Given the description of an element on the screen output the (x, y) to click on. 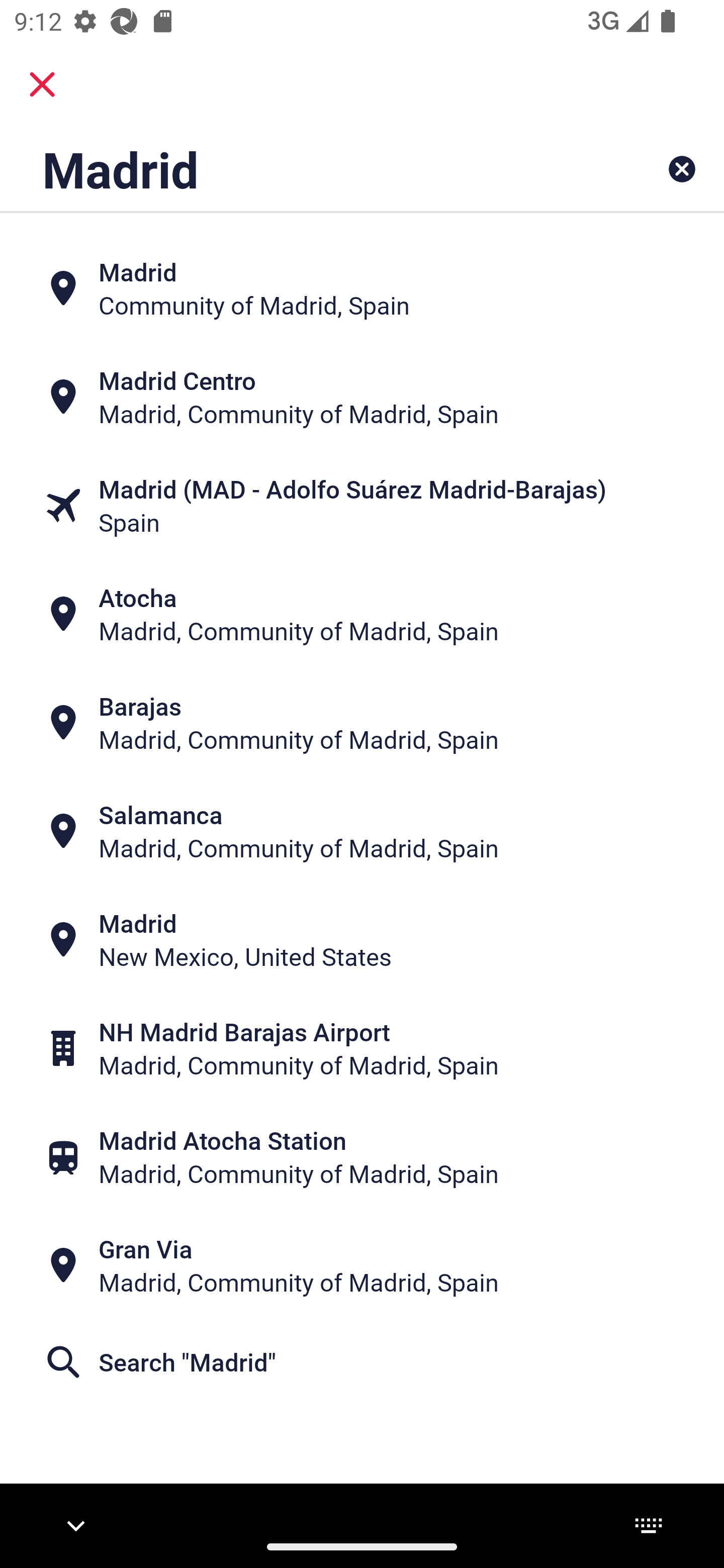
close. (42, 84)
Clear (681, 169)
Madrid (298, 169)
Madrid Community of Madrid, Spain (362, 288)
Madrid Centro Madrid, Community of Madrid, Spain (362, 397)
Madrid (MAD - Adolfo Suárez Madrid-Barajas) Spain (362, 505)
Atocha Madrid, Community of Madrid, Spain (362, 613)
Barajas Madrid, Community of Madrid, Spain (362, 722)
Salamanca Madrid, Community of Madrid, Spain (362, 831)
Madrid New Mexico, United States (362, 939)
Gran Via Madrid, Community of Madrid, Spain (362, 1265)
Search "Madrid" (361, 1362)
